Given the description of an element on the screen output the (x, y) to click on. 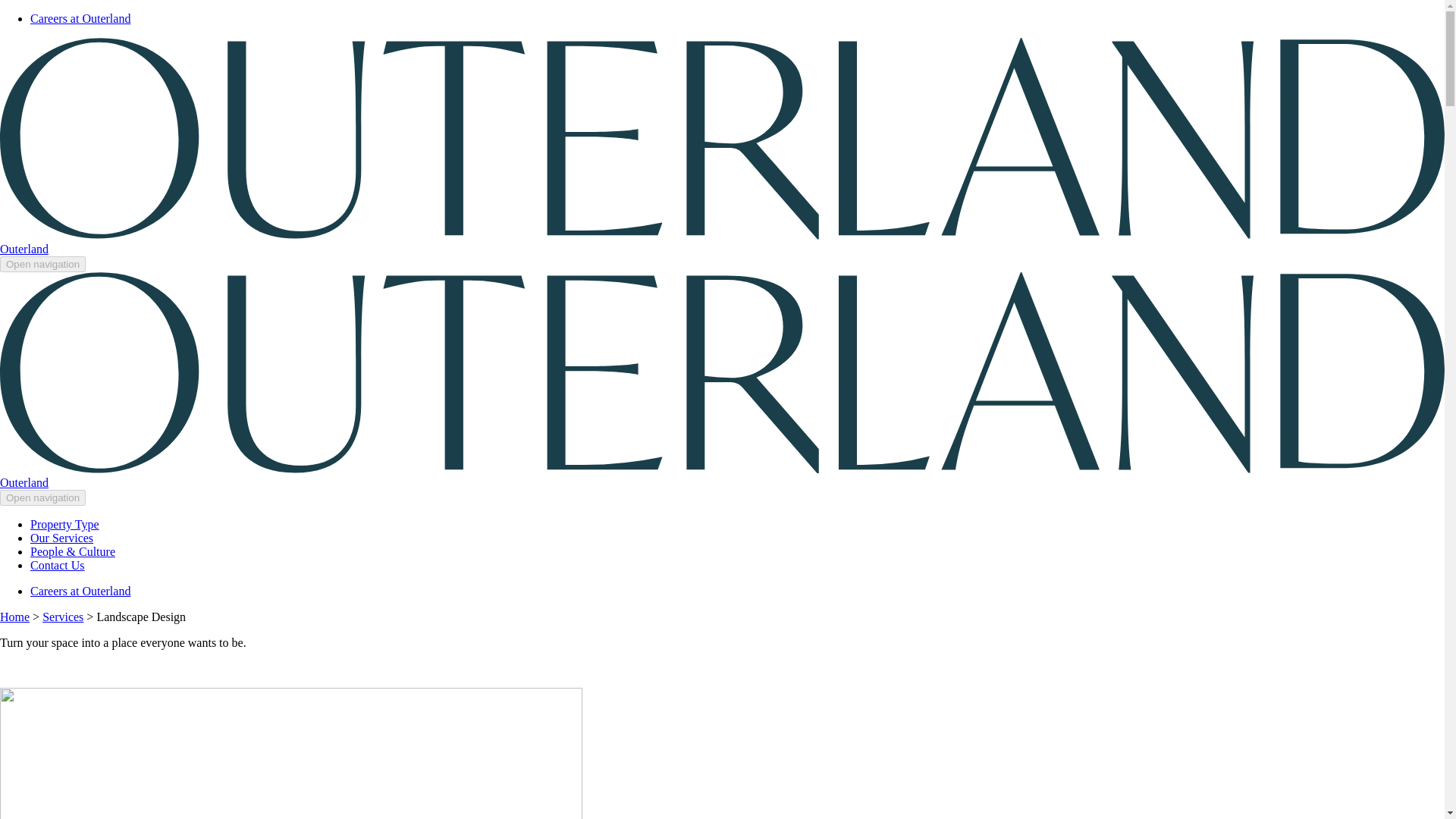
Home (14, 616)
Property Type (64, 523)
Contact Us (57, 564)
Careers at Outerland (80, 590)
Open navigation (42, 497)
Open navigation (42, 263)
Our Services (61, 537)
Careers at Outerland (80, 18)
Services (62, 616)
